Given the description of an element on the screen output the (x, y) to click on. 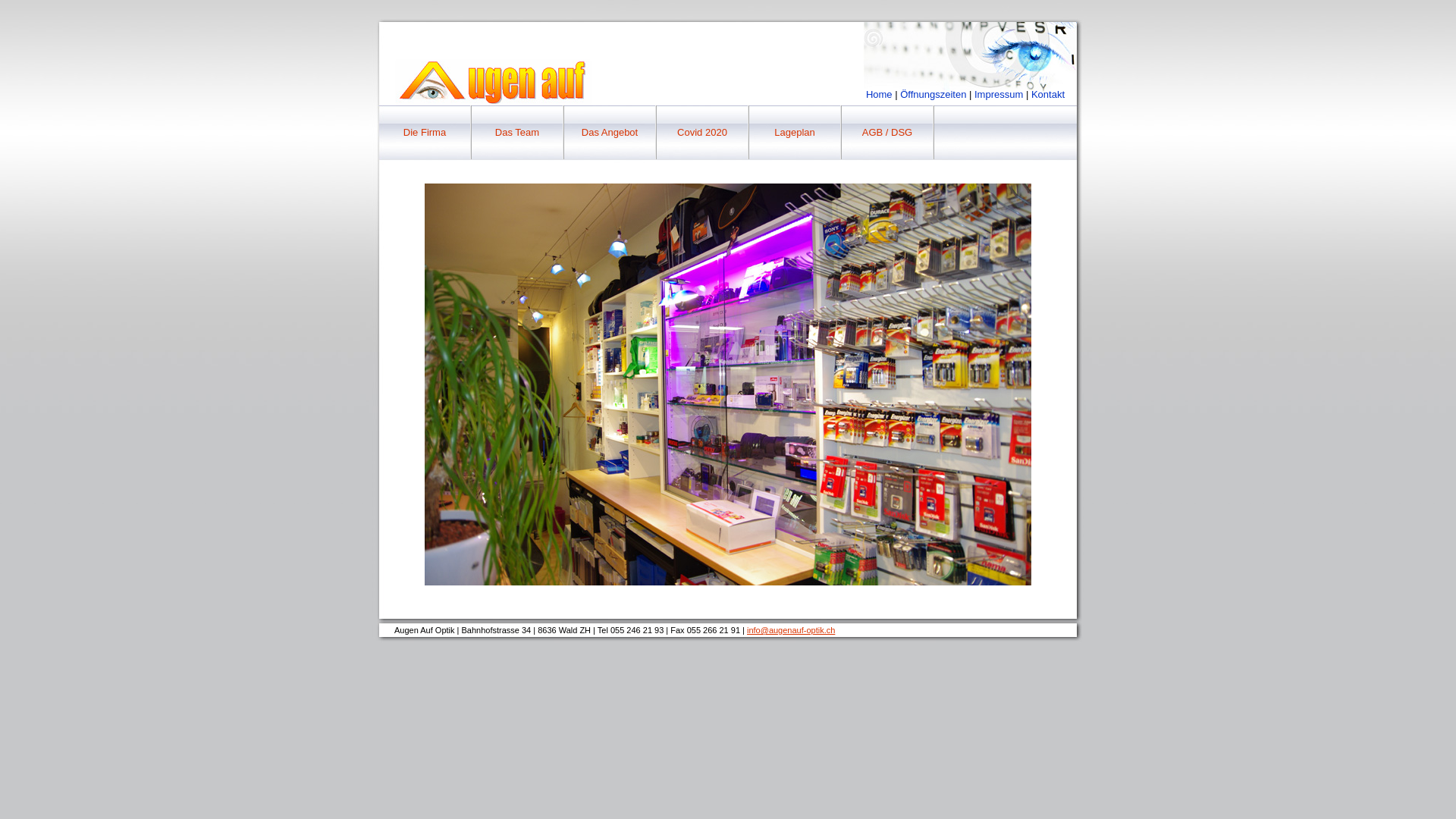
info@augenauf-optik.ch Element type: text (790, 629)
Home Element type: text (879, 94)
Covid 2020 Element type: text (701, 132)
Kontakt Element type: text (1047, 94)
Das Angebot Element type: text (609, 132)
Impressum Element type: text (998, 94)
AGB / DSG Element type: text (886, 132)
Die Firma Element type: text (424, 132)
Das Team Element type: text (516, 132)
Lageplan Element type: text (794, 132)
